Given the description of an element on the screen output the (x, y) to click on. 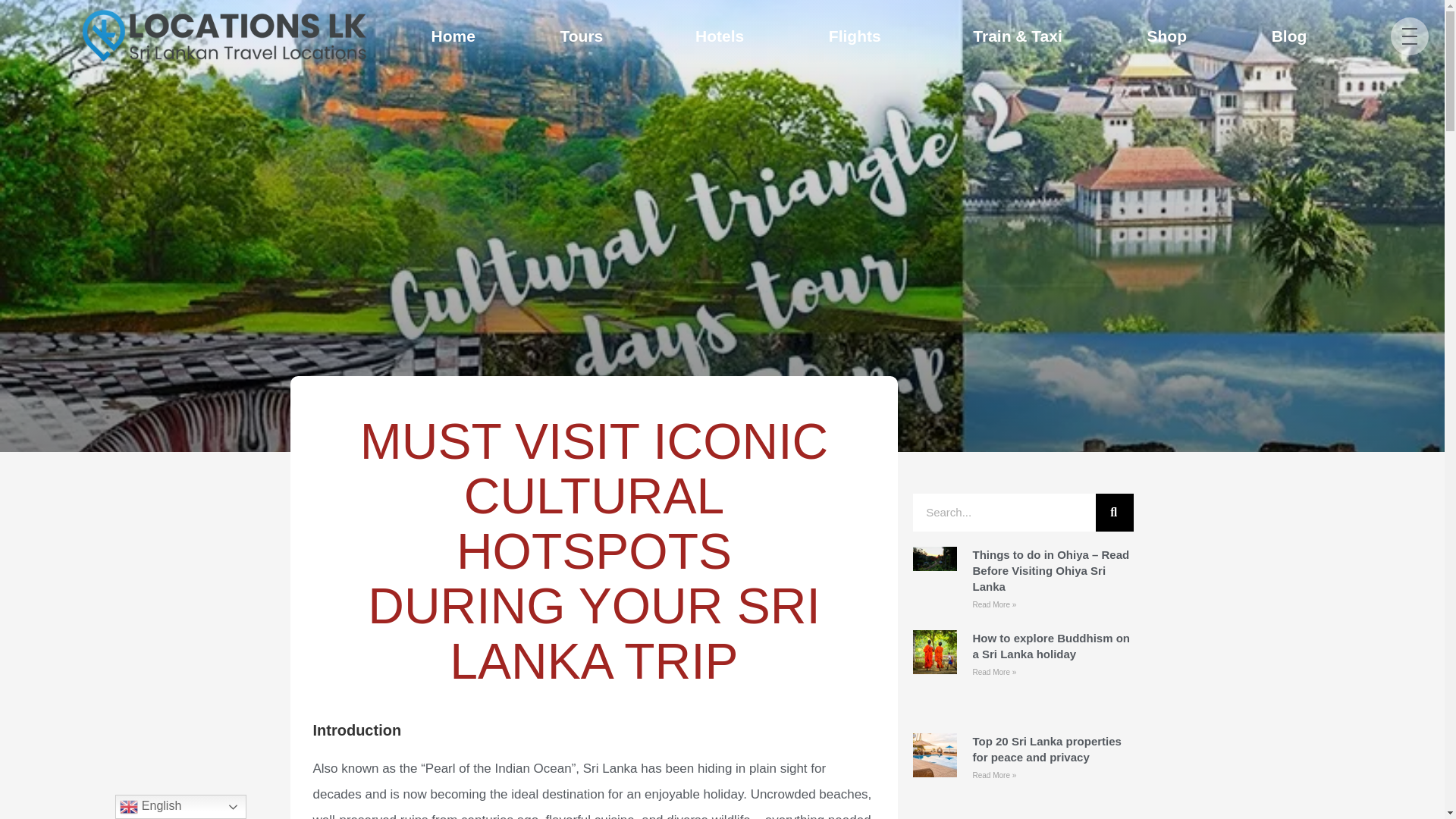
Flights (858, 35)
Hotels (719, 35)
Search (1003, 512)
Tours (585, 35)
Home (453, 35)
Blog (1288, 35)
Shop (1166, 35)
Search (1115, 512)
